Given the description of an element on the screen output the (x, y) to click on. 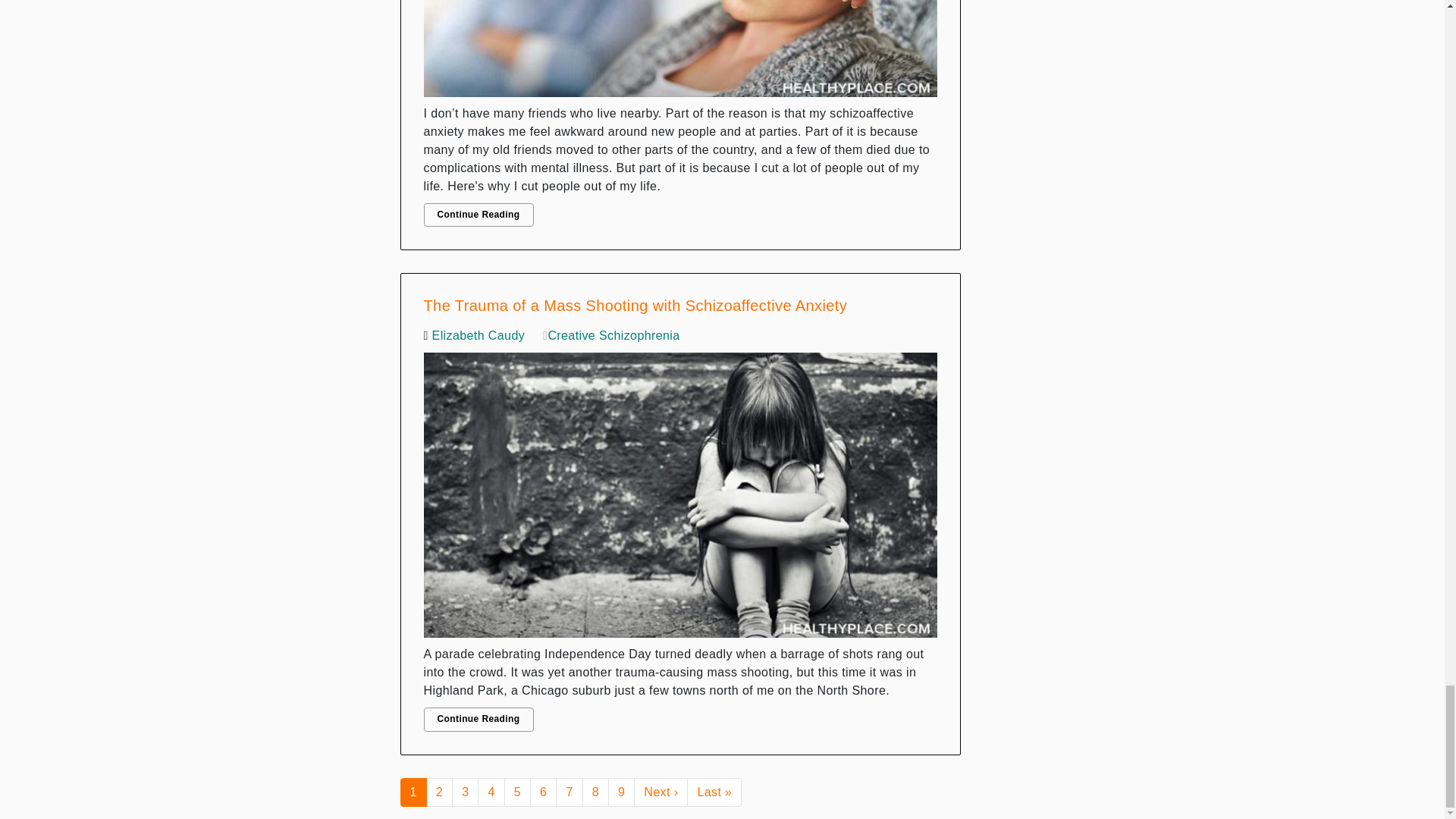
Go to next page (660, 792)
Go to page 9 (621, 792)
Cutting People Out of My Life and Schizoaffective Disorder (680, 52)
Go to page 8 (595, 792)
Current page (413, 792)
Go to page 6 (542, 792)
Go to page 4 (490, 792)
Go to page 2 (439, 792)
Go to page 5 (517, 792)
Go to page 7 (569, 792)
Go to page 3 (465, 792)
